Given the description of an element on the screen output the (x, y) to click on. 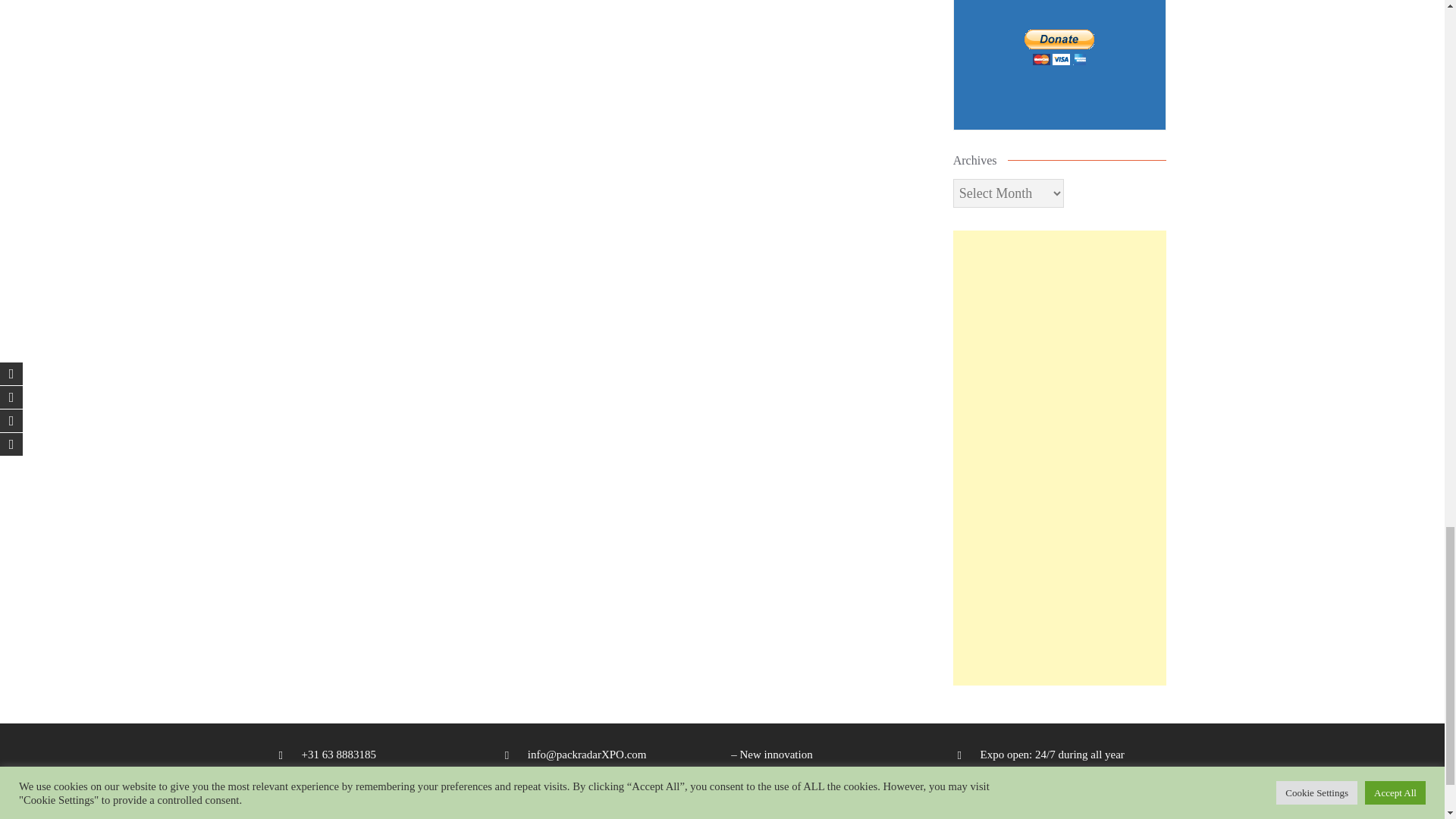
PayPal - The safer, easier way to pay online! (1059, 47)
